Given the description of an element on the screen output the (x, y) to click on. 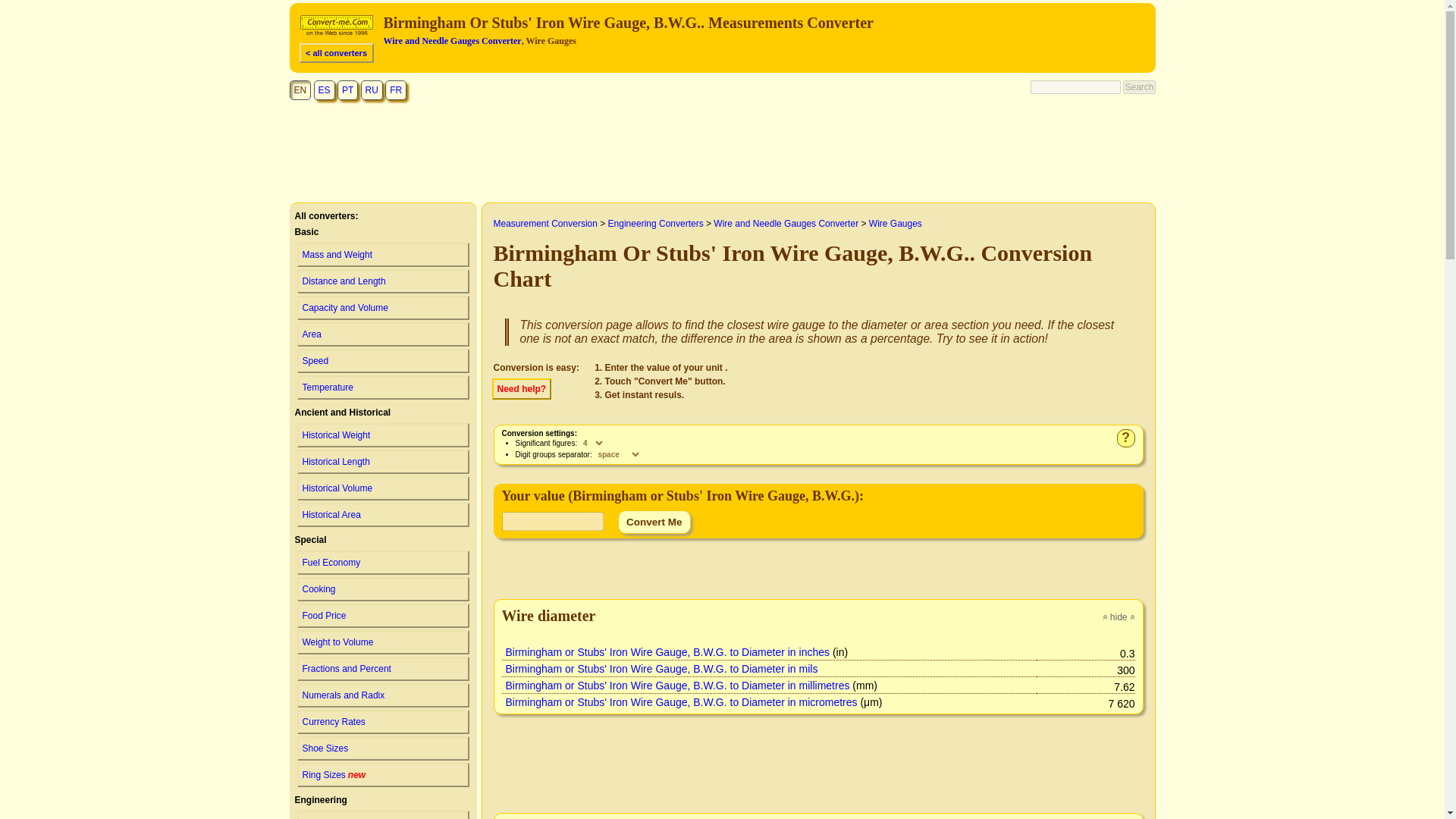
Convert Me (653, 521)
Online units and measurements conversion (340, 35)
Measurement converter (336, 25)
Historical Length (382, 461)
Fractions and Percent (382, 668)
Search (1138, 87)
Capacity and Volume (382, 307)
EN (300, 89)
Mass and Weight (382, 254)
PT (347, 89)
Special (310, 539)
Historical Volume (382, 775)
English (382, 488)
Basic (300, 89)
